Given the description of an element on the screen output the (x, y) to click on. 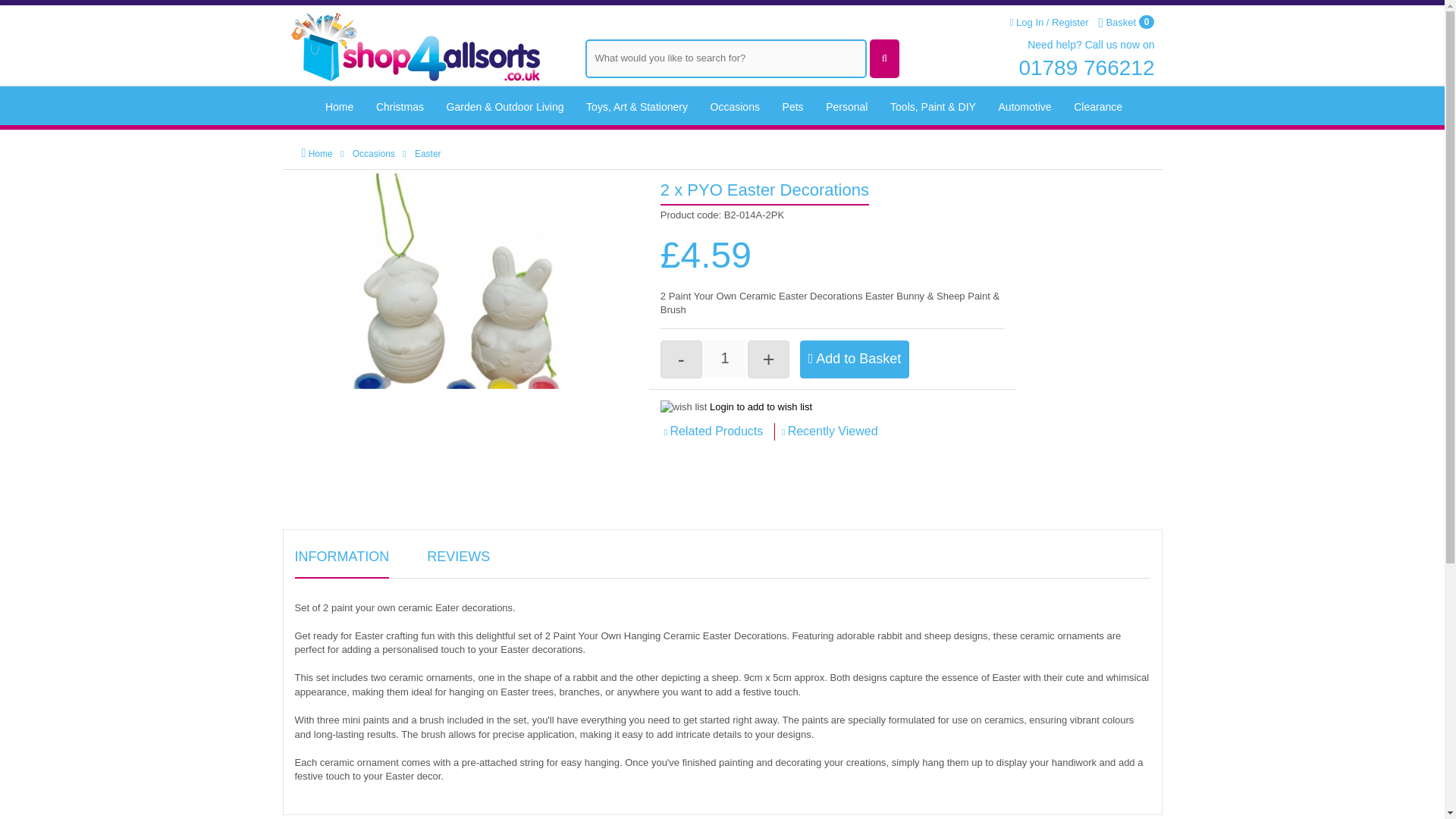
wish list (684, 407)
Home (339, 107)
Christmas (400, 107)
Shop4Allsorts (413, 42)
1 (724, 358)
Basket 0 (1125, 22)
